Given the description of an element on the screen output the (x, y) to click on. 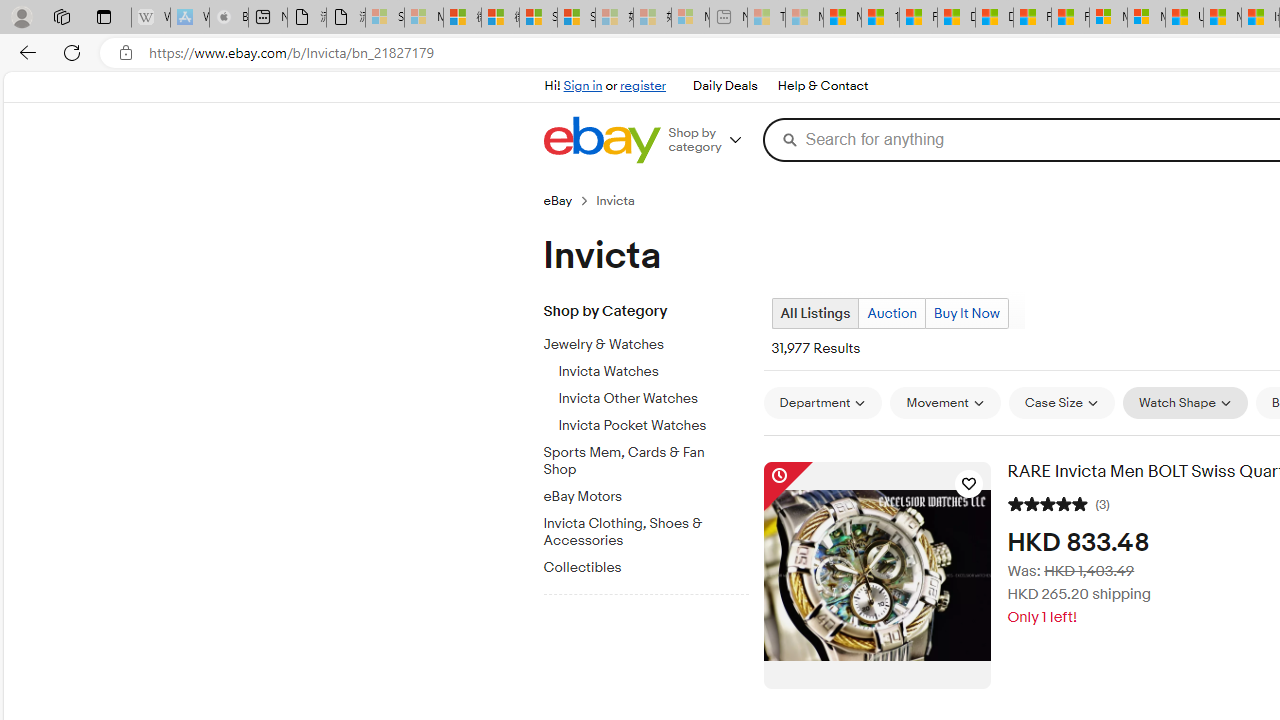
Invicta Other Watches (653, 399)
Daily Deals (724, 85)
Invicta Pocket Watches (653, 426)
eBay Home (601, 139)
Foo BAR | Trusted Community Engagement and Contributions (1070, 17)
Microsoft account | Account Checkup - Sleeping (690, 17)
Department (822, 403)
Drinking tea every day is proven to delay biological aging (993, 17)
Invicta (623, 200)
Invicta Pocket Watches (653, 422)
Wikipedia - Sleeping (150, 17)
Sign in (582, 85)
Invicta Clothing, Shoes & Accessories (637, 532)
